Given the description of an element on the screen output the (x, y) to click on. 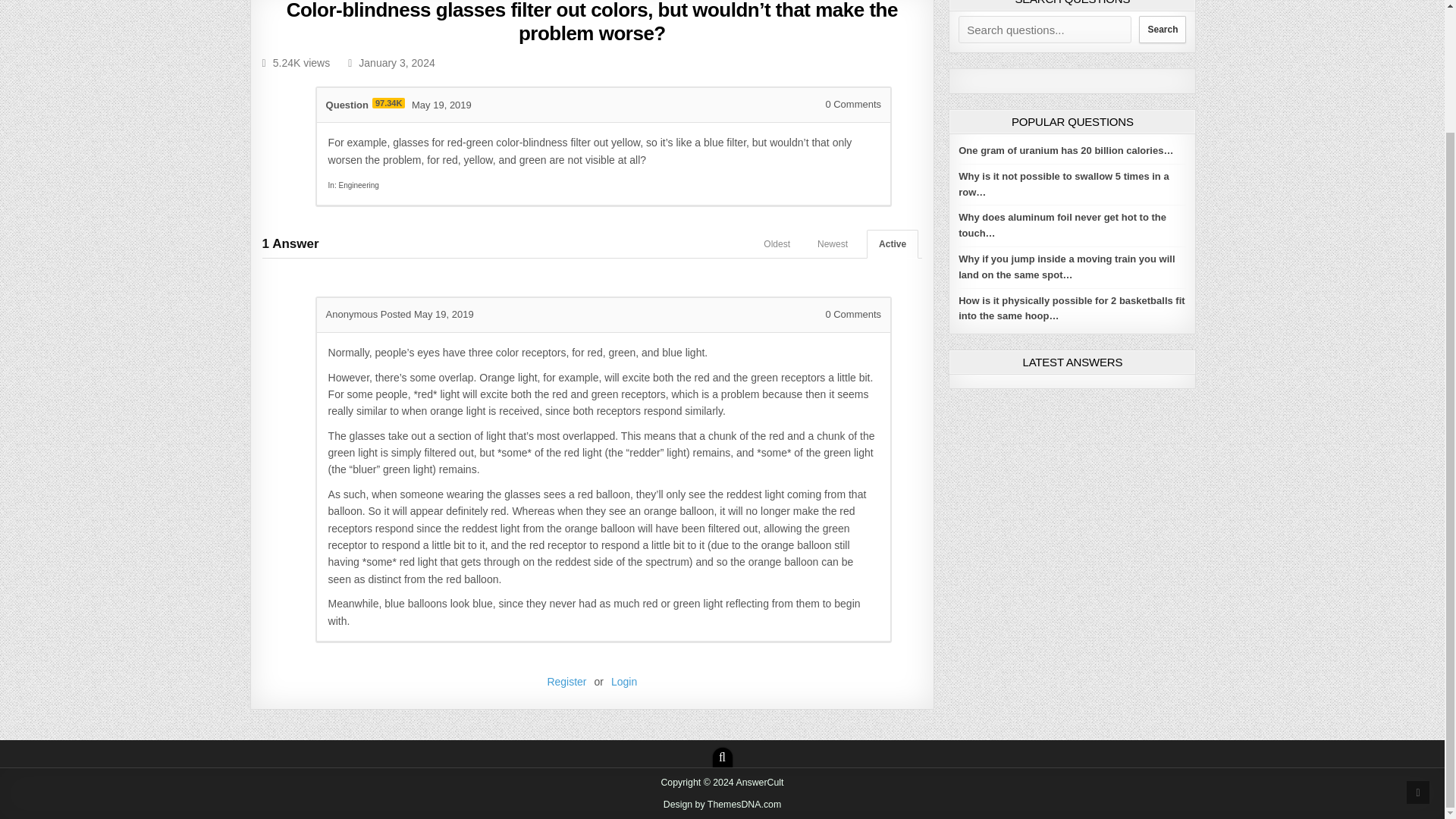
Search (722, 757)
Oldest (776, 244)
Register (566, 681)
Reputation (388, 102)
Scroll to Top (1417, 644)
Active (892, 244)
May 19, 2019 (441, 104)
Posted May 19, 2019 (427, 314)
Design by ThemesDNA.com (722, 804)
Search (1162, 29)
